Given the description of an element on the screen output the (x, y) to click on. 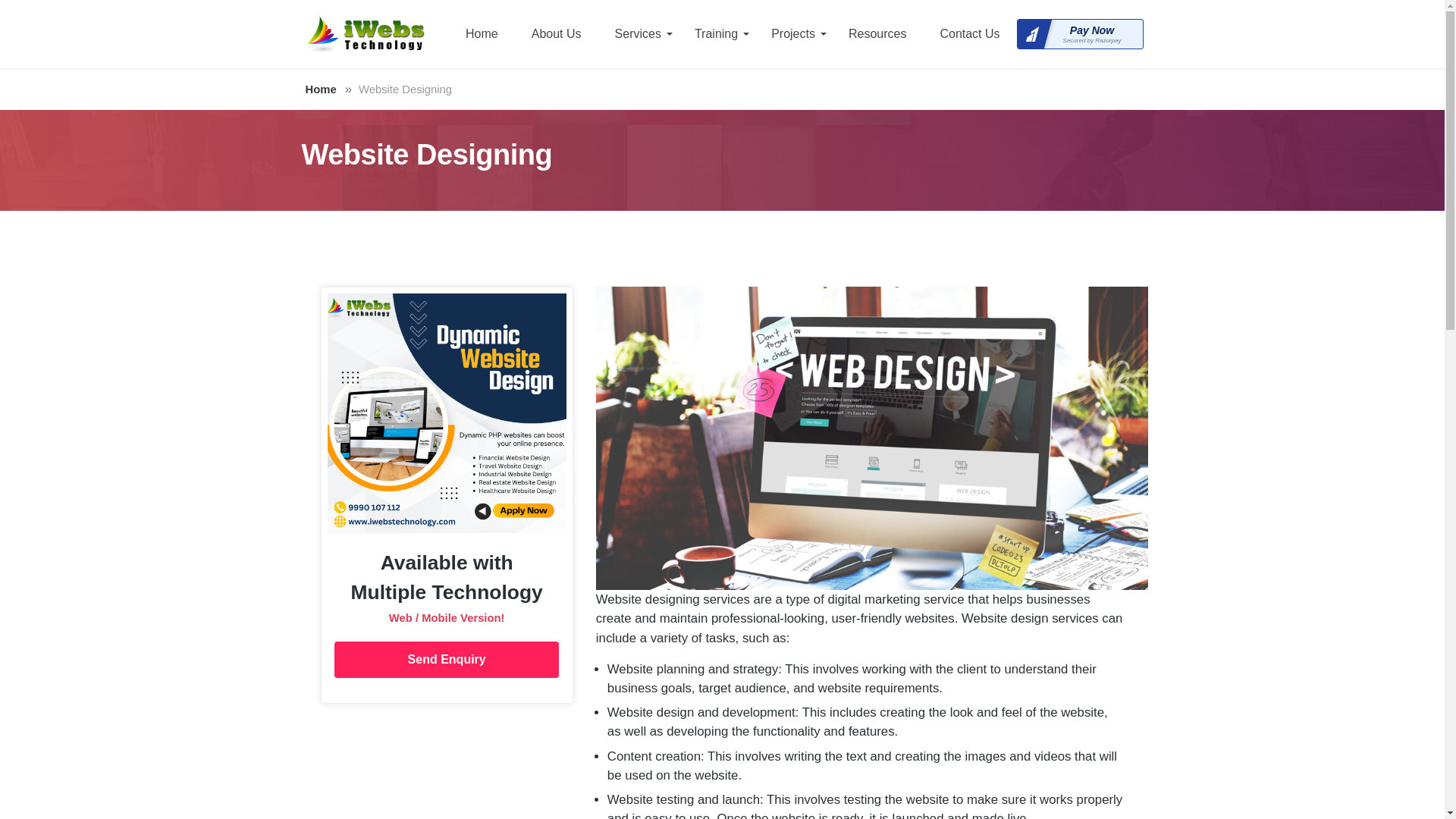
Services (638, 33)
Training (715, 33)
About Us (555, 33)
Home (481, 33)
